Given the description of an element on the screen output the (x, y) to click on. 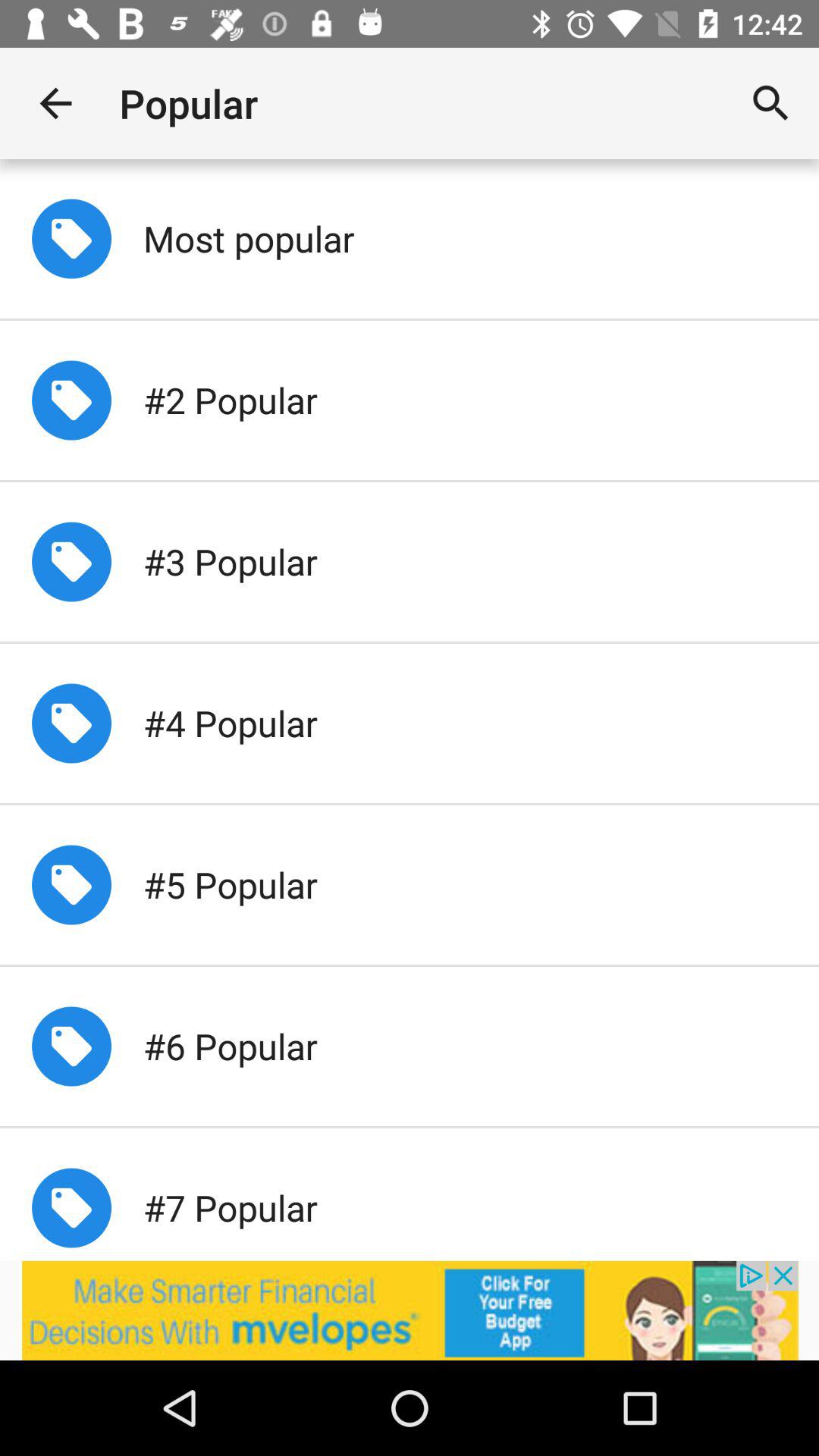
advertisement (409, 1310)
